Given the description of an element on the screen output the (x, y) to click on. 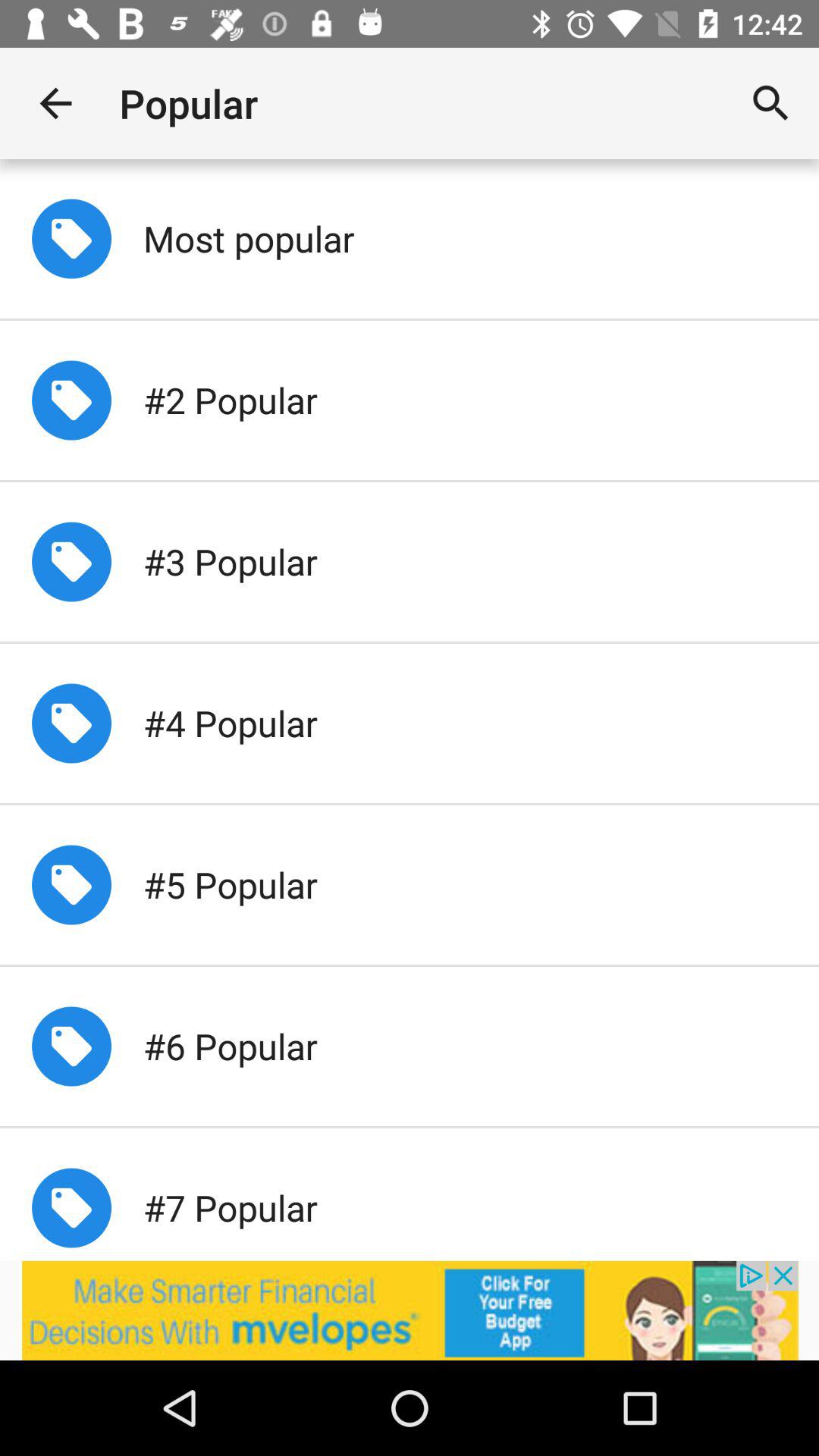
advertisement (409, 1310)
